Given the description of an element on the screen output the (x, y) to click on. 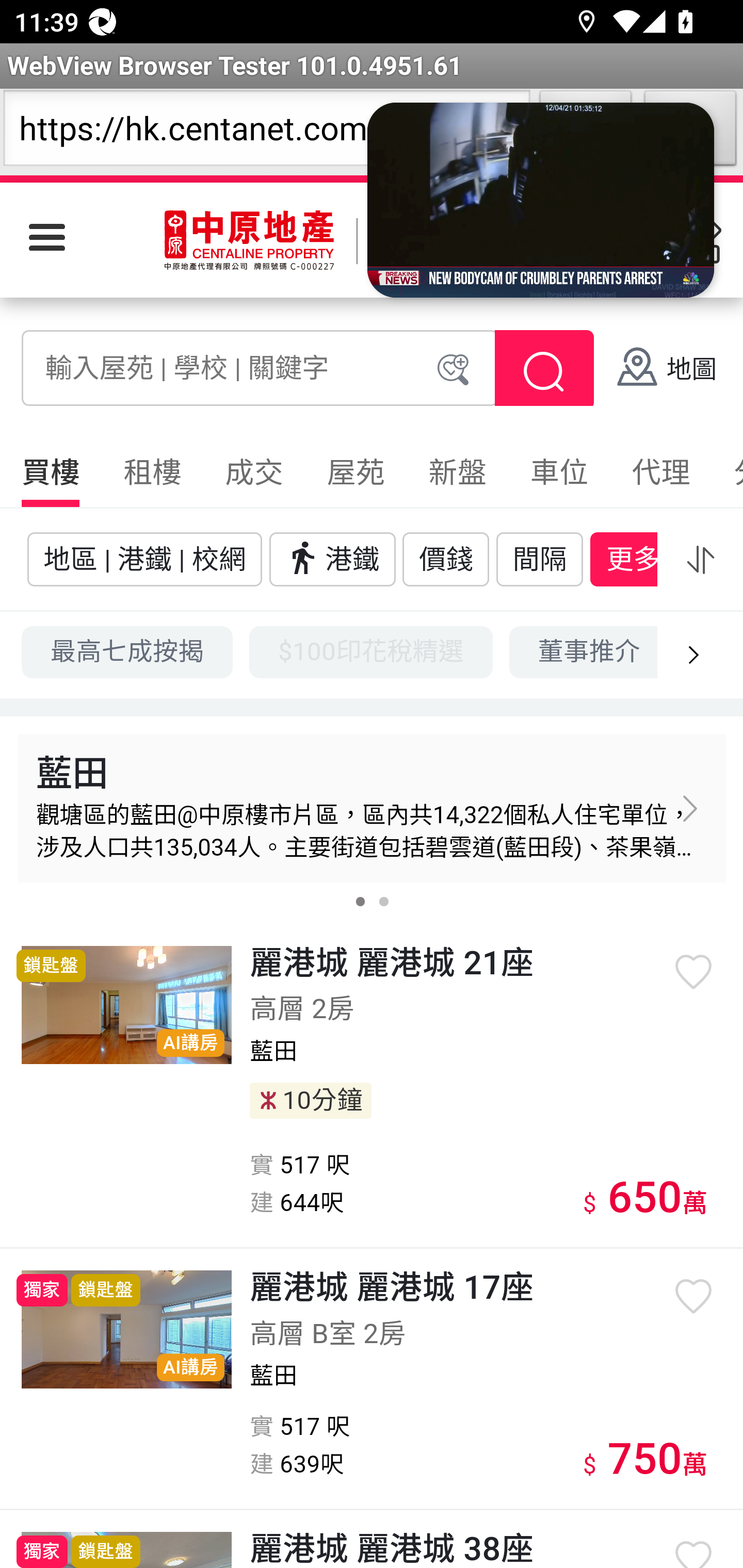
地圖 (665, 369)
 (544, 372)
買樓 (51, 472)
租樓 (152, 472)
成交 (254, 472)
屋苑 (355, 472)
新盤 (457, 472)
車位 (558, 472)
代理 (660, 472)
 (700, 558)
地區 | 港鐵 | 校網 (144, 557)
港鐵 (332, 557)
價錢 (446, 557)
間隔 (539, 557)
更多 (632, 557)
最高七成按揭 (127, 651)
$100印花稅精選 (370, 651)
董事推介 (583, 651)
九成按揭 (713, 651)
麗港城 麗港城 21座放盤 (126, 1003)
麗港城 麗港城 17座放盤 (126, 1330)
